Given the description of an element on the screen output the (x, y) to click on. 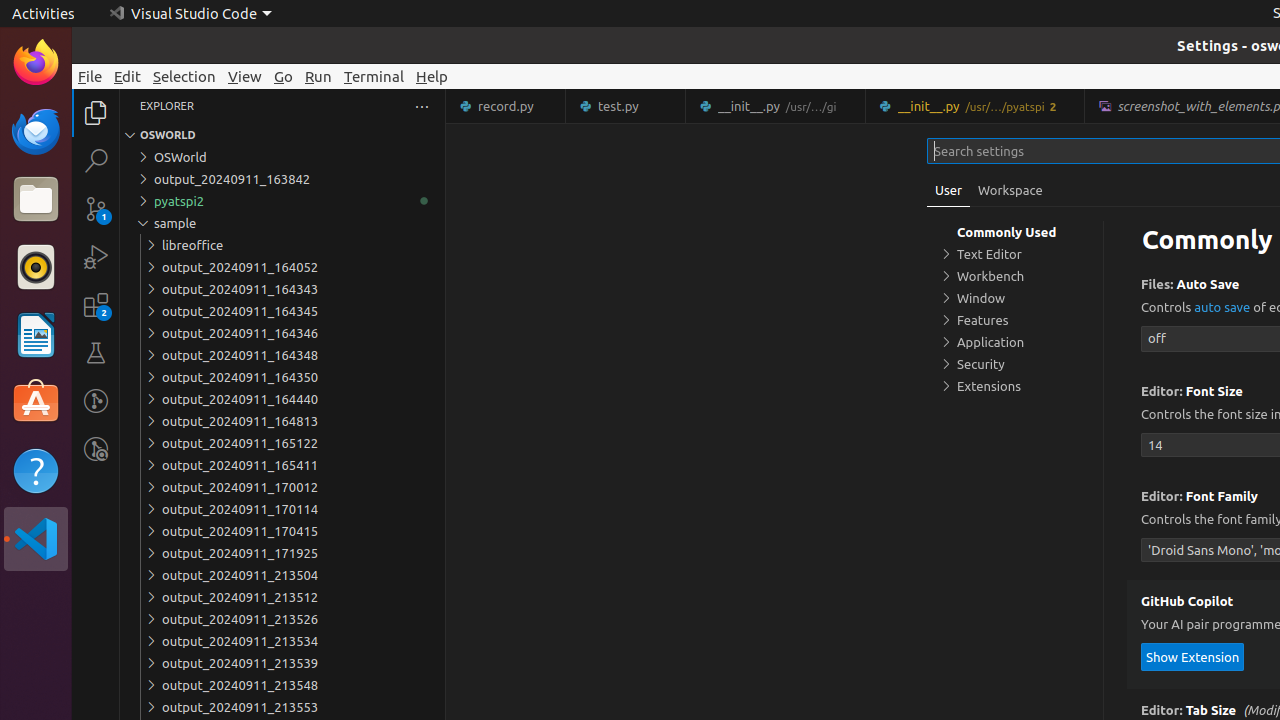
Edit Element type: push-button (127, 76)
output_20240911_213539 Element type: tree-item (282, 663)
Commonly Used, group Element type: tree-item (1015, 232)
output_20240911_164350 Element type: tree-item (282, 377)
